Given the description of an element on the screen output the (x, y) to click on. 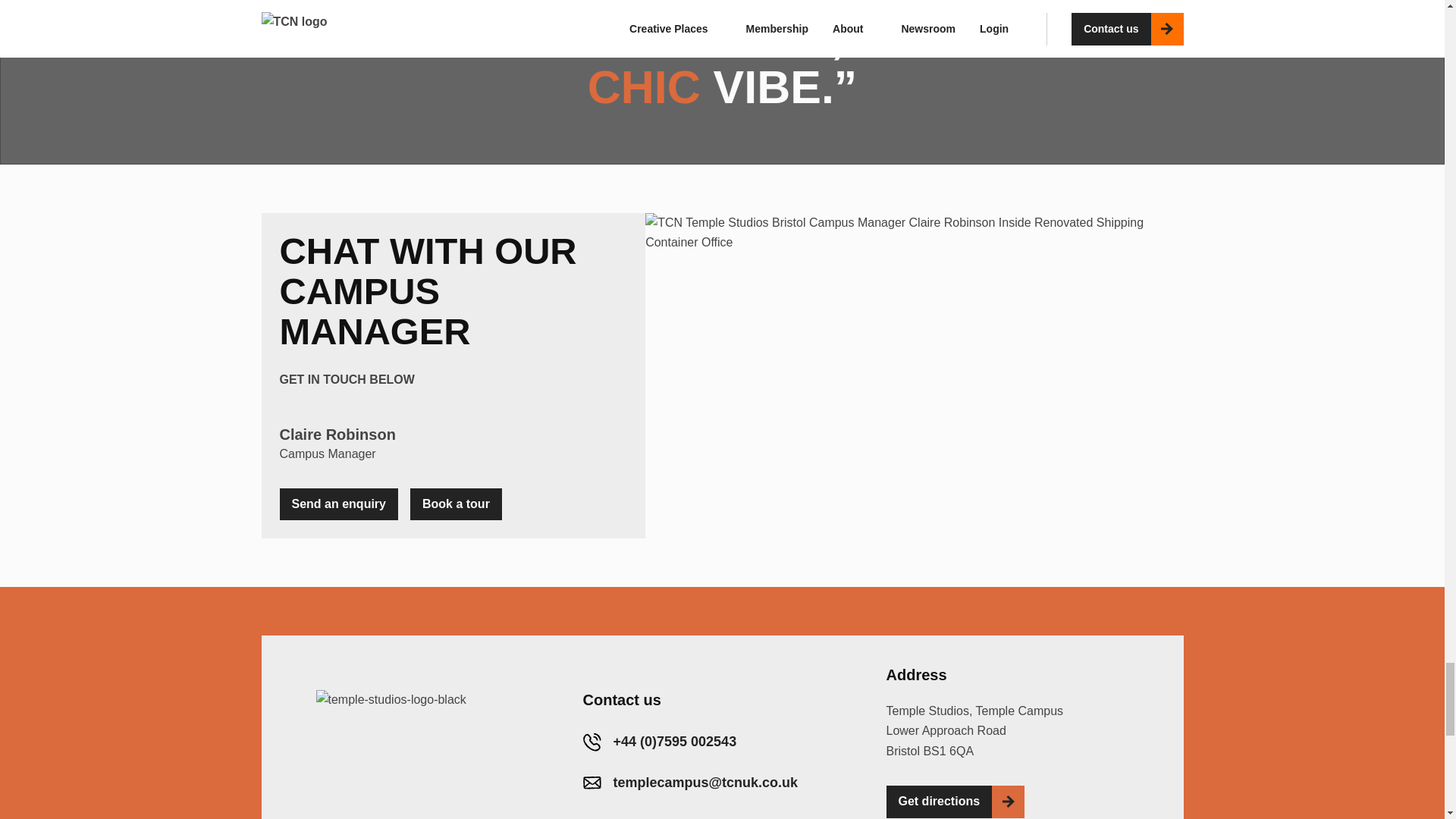
Book a tour (456, 504)
Get directions (938, 801)
Send an enquiry (338, 504)
